Given the description of an element on the screen output the (x, y) to click on. 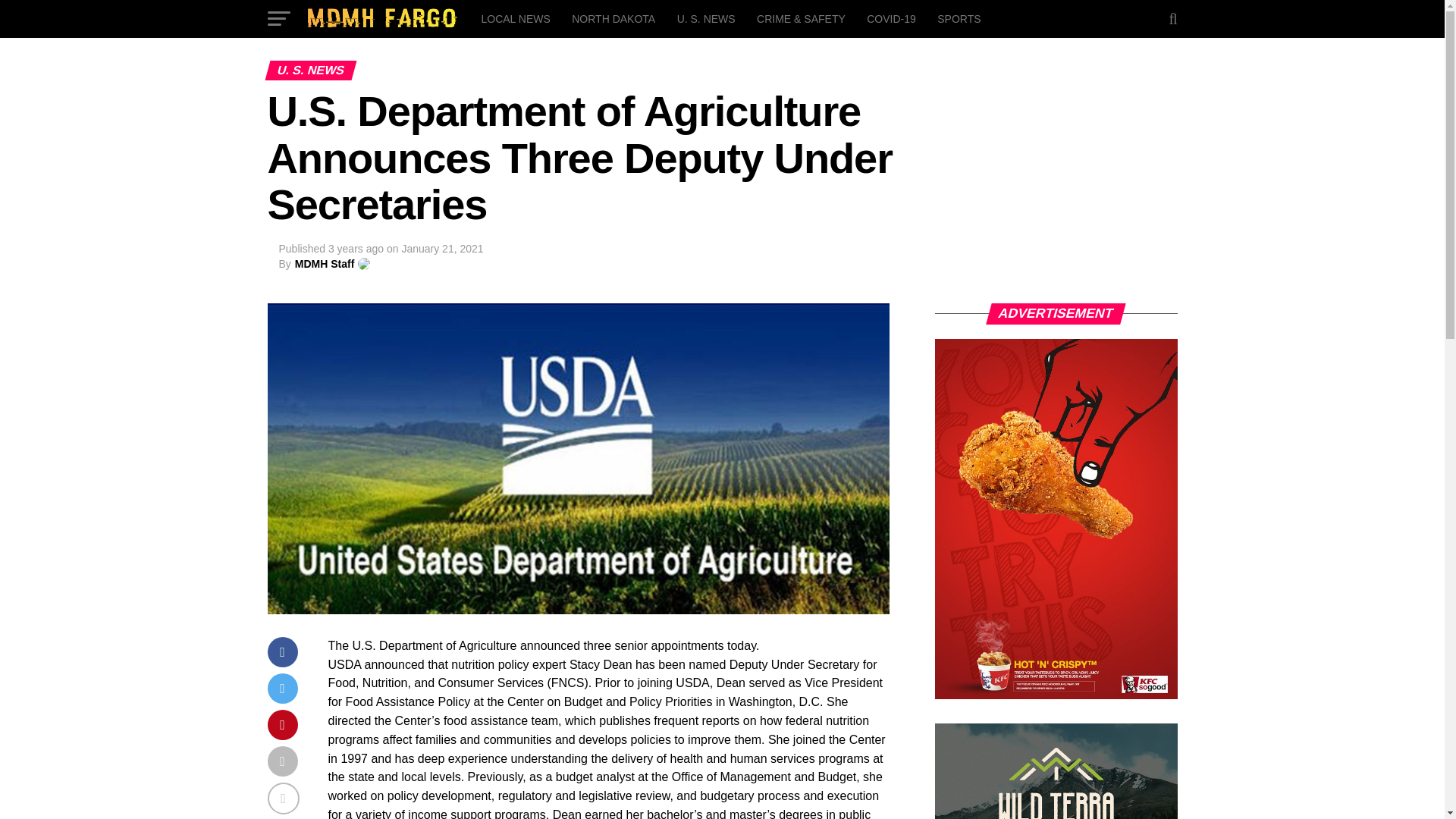
U. S. NEWS (706, 18)
LOCAL NEWS (515, 18)
NORTH DAKOTA (612, 18)
COVID-19 (890, 18)
Posts by MDMH Staff (325, 263)
